Given the description of an element on the screen output the (x, y) to click on. 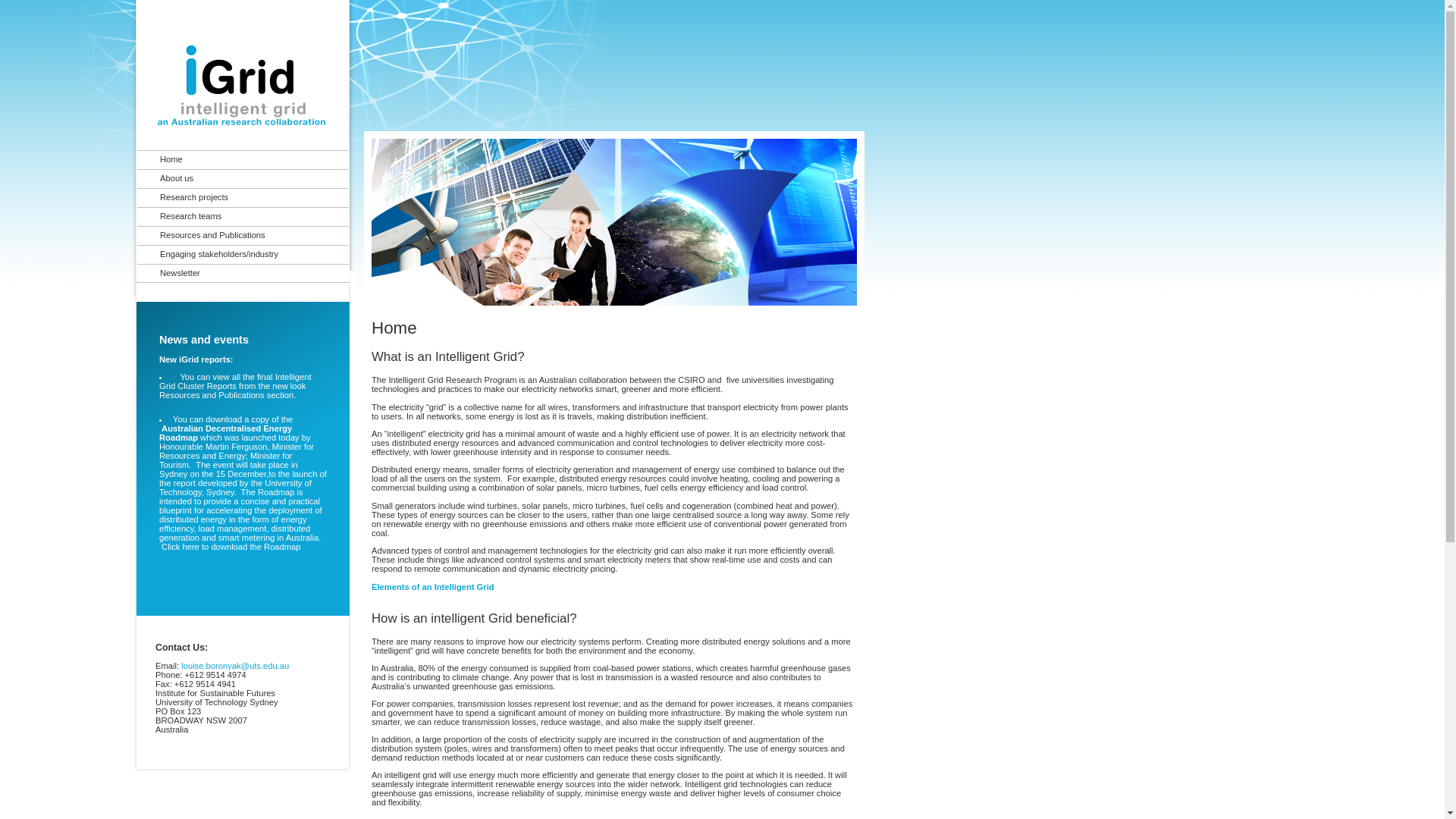
Research teams Element type: text (242, 215)
Newsletter Element type: text (242, 272)
About us Element type: text (242, 177)
louise.boronyak@uts.edu.au Element type: text (234, 665)
Elements of an Intelligent Grid Element type: text (432, 586)
Click here to download the Roadmap Element type: text (230, 546)
Engaging stakeholders/industry Element type: text (242, 253)
Research projects Element type: text (242, 196)
Home Element type: text (242, 158)
iGrid Home Element type: hover (231, 144)
Resources and Publications Element type: text (242, 234)
Australian Decentralised Energy Roadmap Element type: text (225, 432)
